Given the description of an element on the screen output the (x, y) to click on. 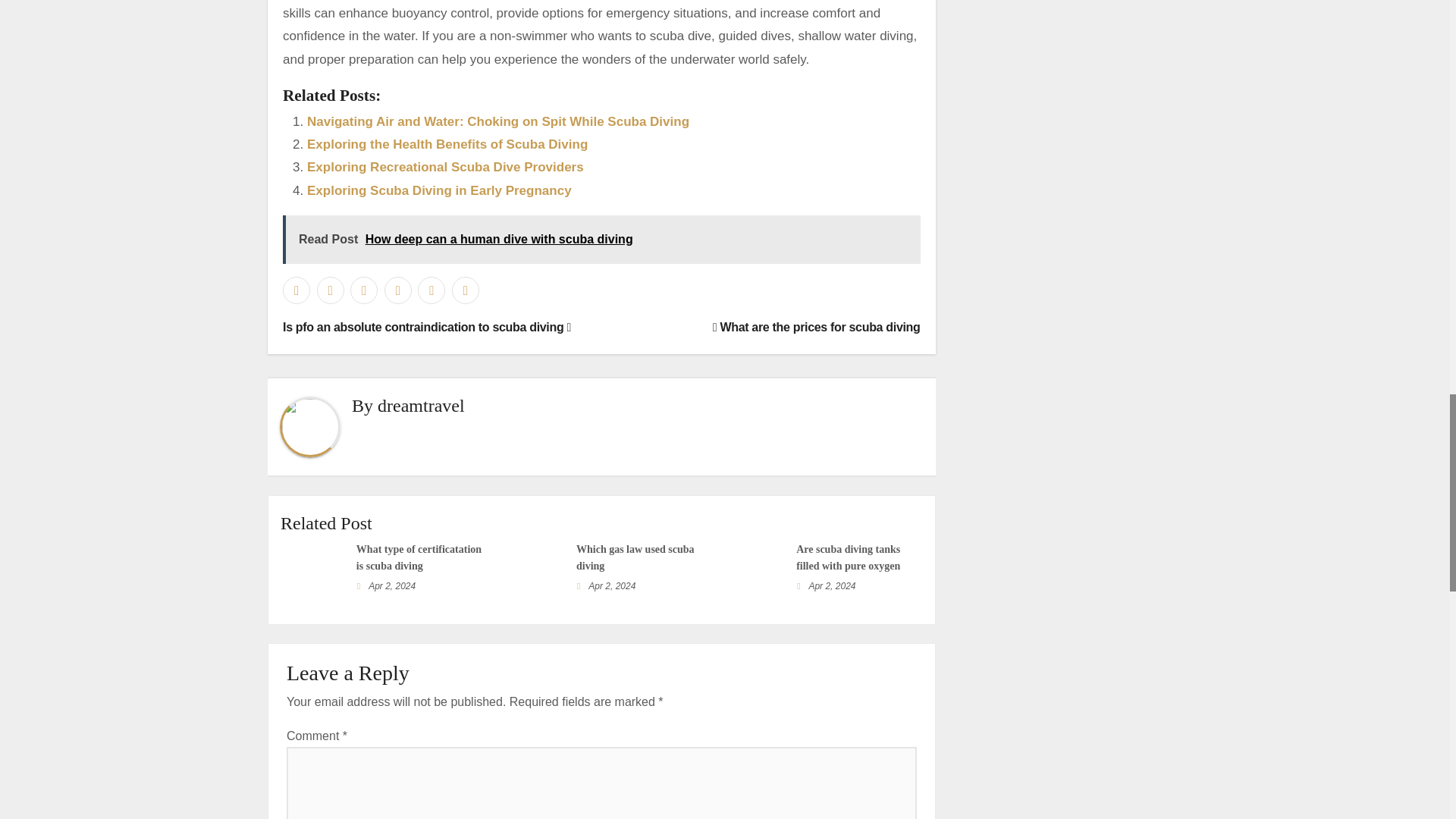
Is pfo an absolute contraindication to scuba diving (426, 327)
Read Post  How deep can a human dive with scuba diving (601, 239)
Exploring Recreational Scuba Dive Providers (445, 166)
Navigating Air and Water: Choking on Spit While Scuba Diving (497, 121)
Exploring the Health Benefits of Scuba Diving (447, 144)
What are the prices for scuba diving (816, 327)
Exploring Scuba Diving in Early Pregnancy (439, 190)
